Given the description of an element on the screen output the (x, y) to click on. 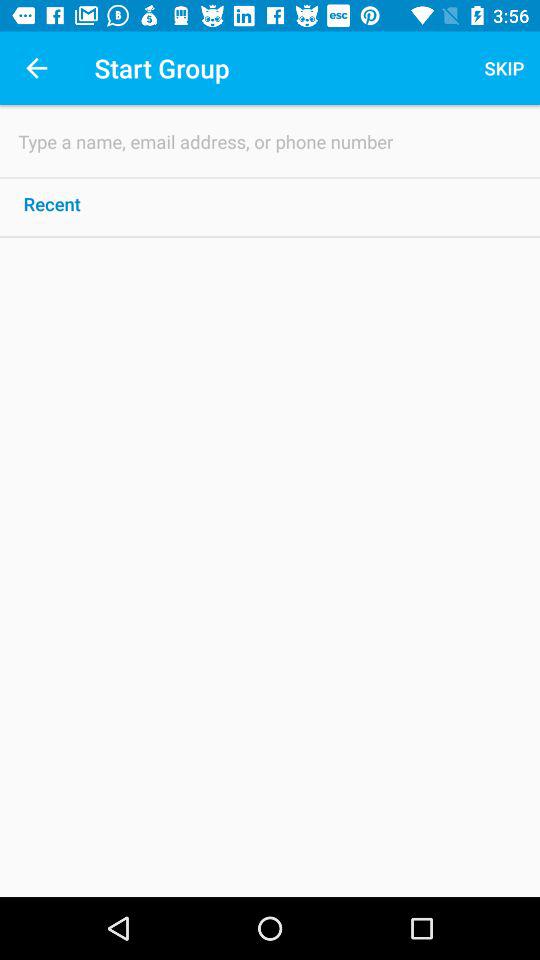
flip until skip icon (504, 67)
